Given the description of an element on the screen output the (x, y) to click on. 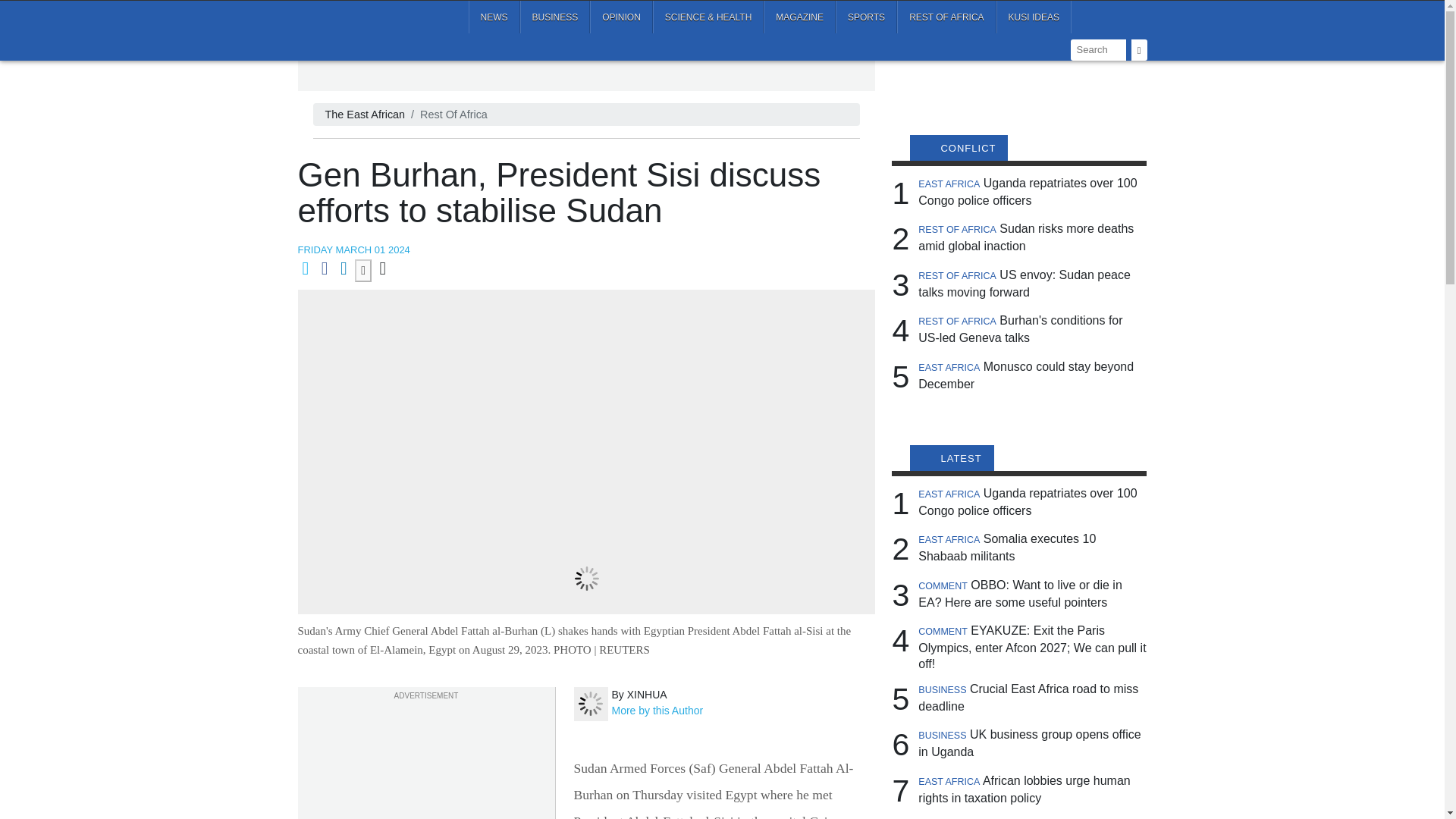
MAGAZINE (798, 16)
OPINION (620, 16)
NEWS (493, 16)
BUSINESS (555, 16)
SPORTS (865, 16)
